Given the description of an element on the screen output the (x, y) to click on. 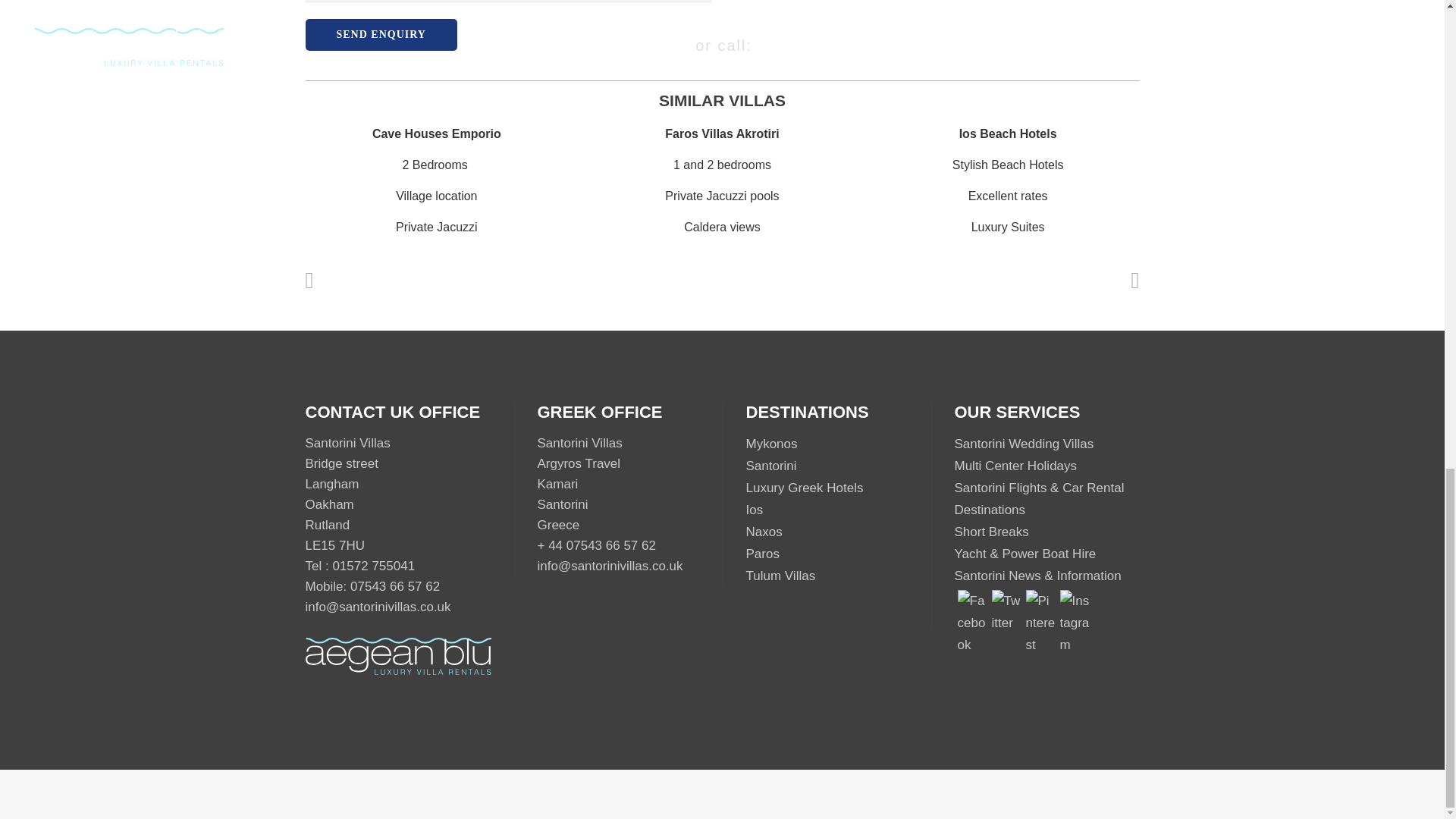
Naxos Luxury Hotels (764, 531)
Tulum Villas (780, 575)
Send Enquiry (380, 34)
Paros Luxury Hotels (761, 554)
Ios Luxury Hotels (753, 509)
Luxury Greek Hotels (804, 487)
Villas in Santorini (770, 465)
Villas in Mykonos (771, 443)
